Given the description of an element on the screen output the (x, y) to click on. 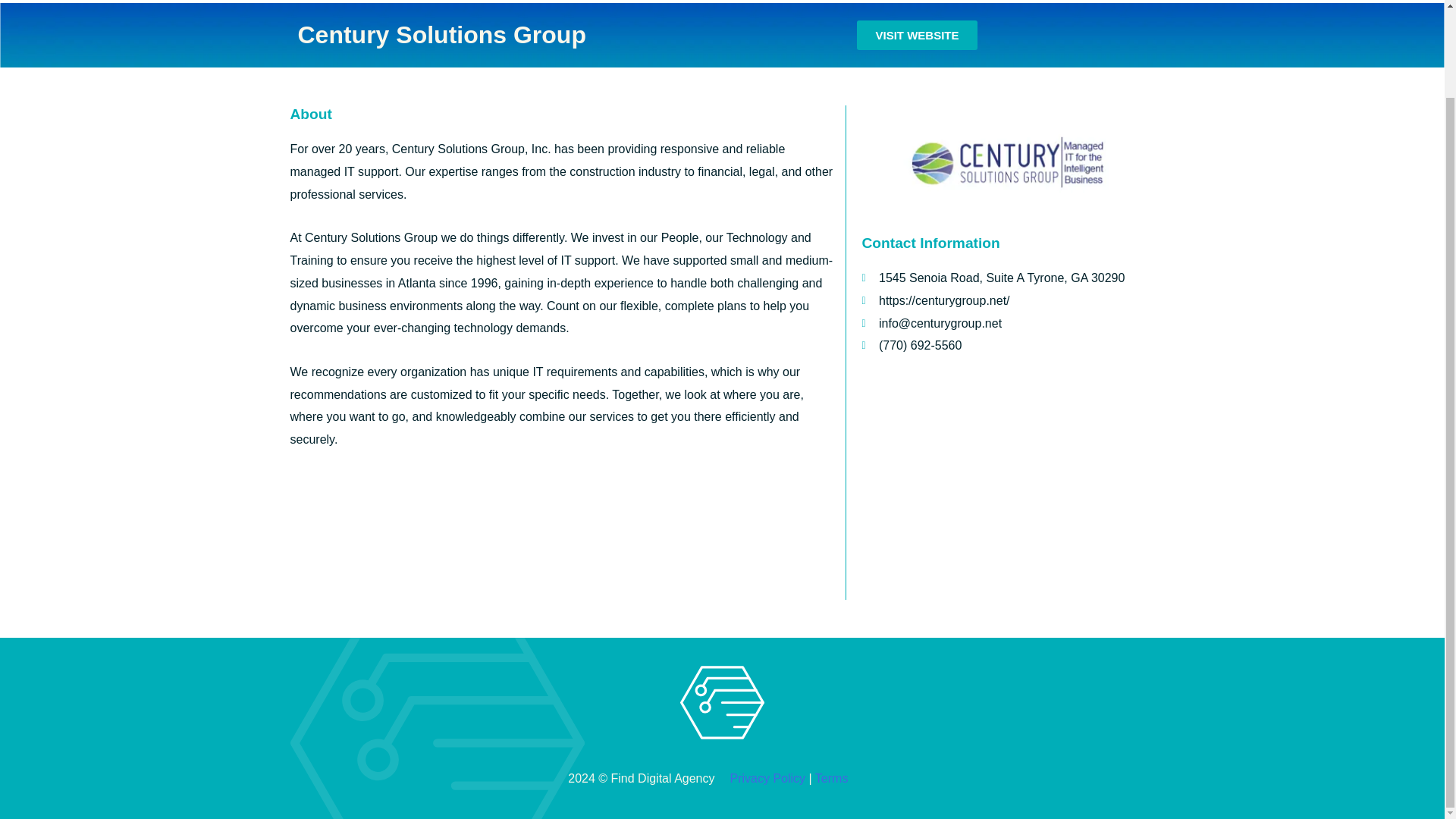
1545 Senoia Road, Suite A Tyrone, GA 30290 (1007, 485)
